Given the description of an element on the screen output the (x, y) to click on. 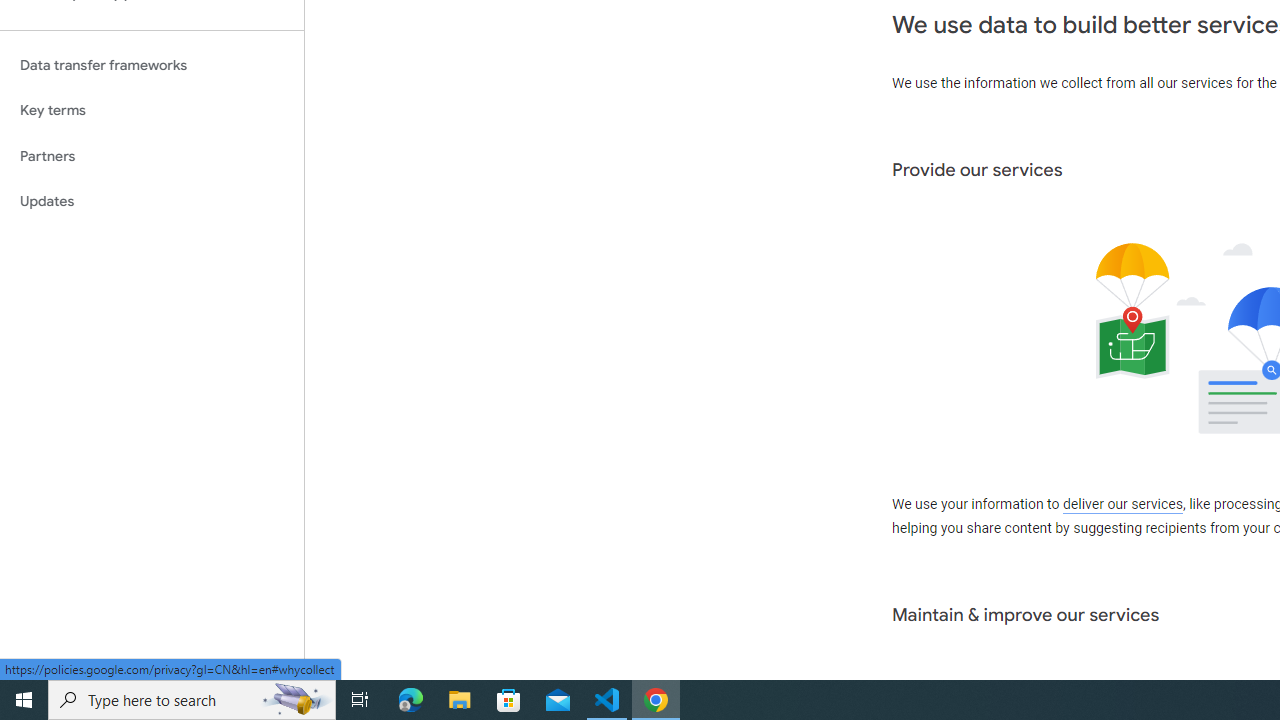
Partners (152, 156)
Updates (152, 201)
deliver our services (1122, 505)
Key terms (152, 110)
Data transfer frameworks (152, 65)
